Given the description of an element on the screen output the (x, y) to click on. 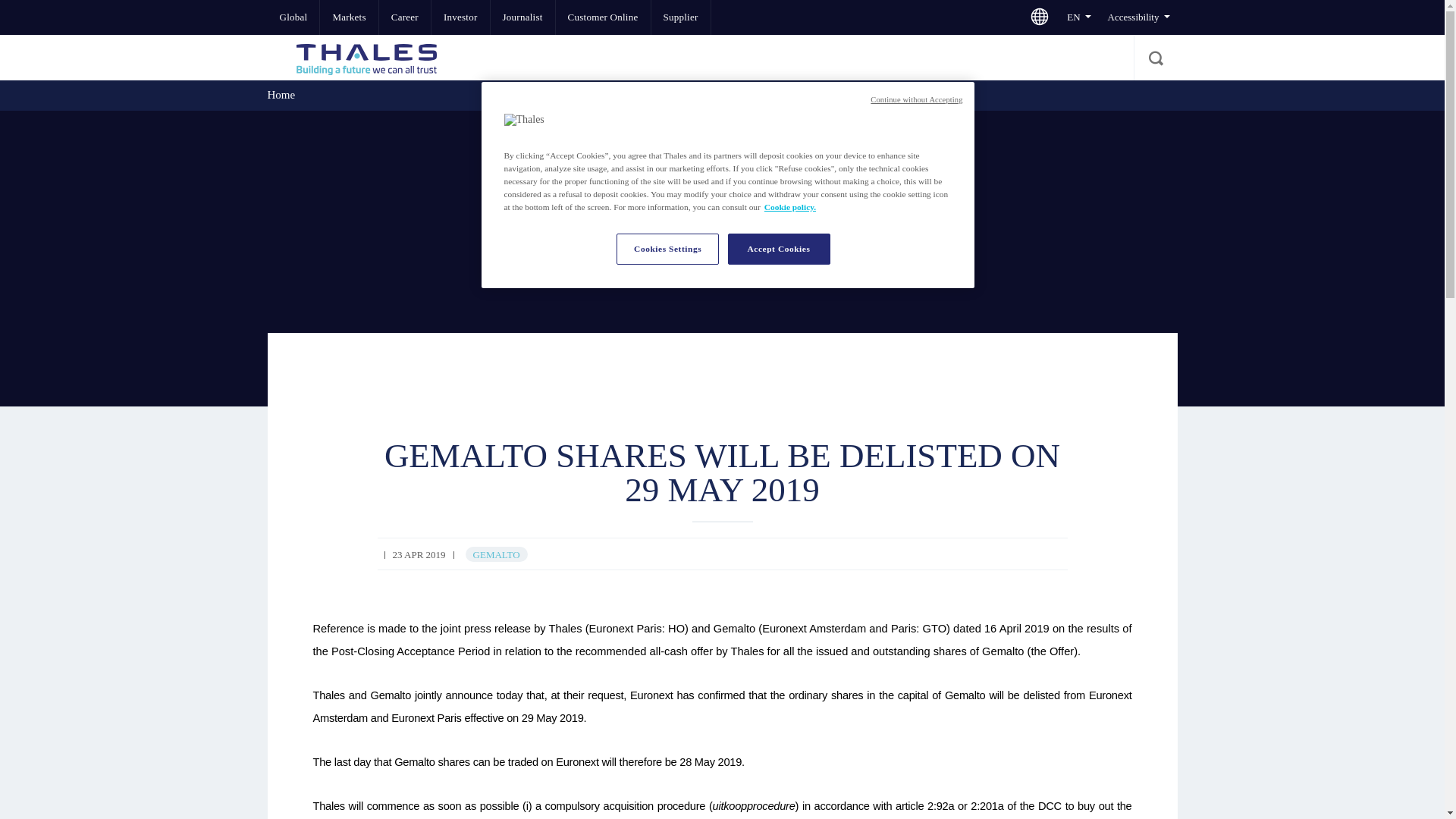
GEMALTO (496, 554)
Accessibility (1138, 17)
Global (292, 17)
Customer Online (603, 17)
Markets (348, 17)
Search (1154, 57)
Career (404, 17)
Journalist (521, 17)
Home (280, 94)
Supplier (680, 17)
EN (1077, 17)
Investor (459, 17)
